Given the description of an element on the screen output the (x, y) to click on. 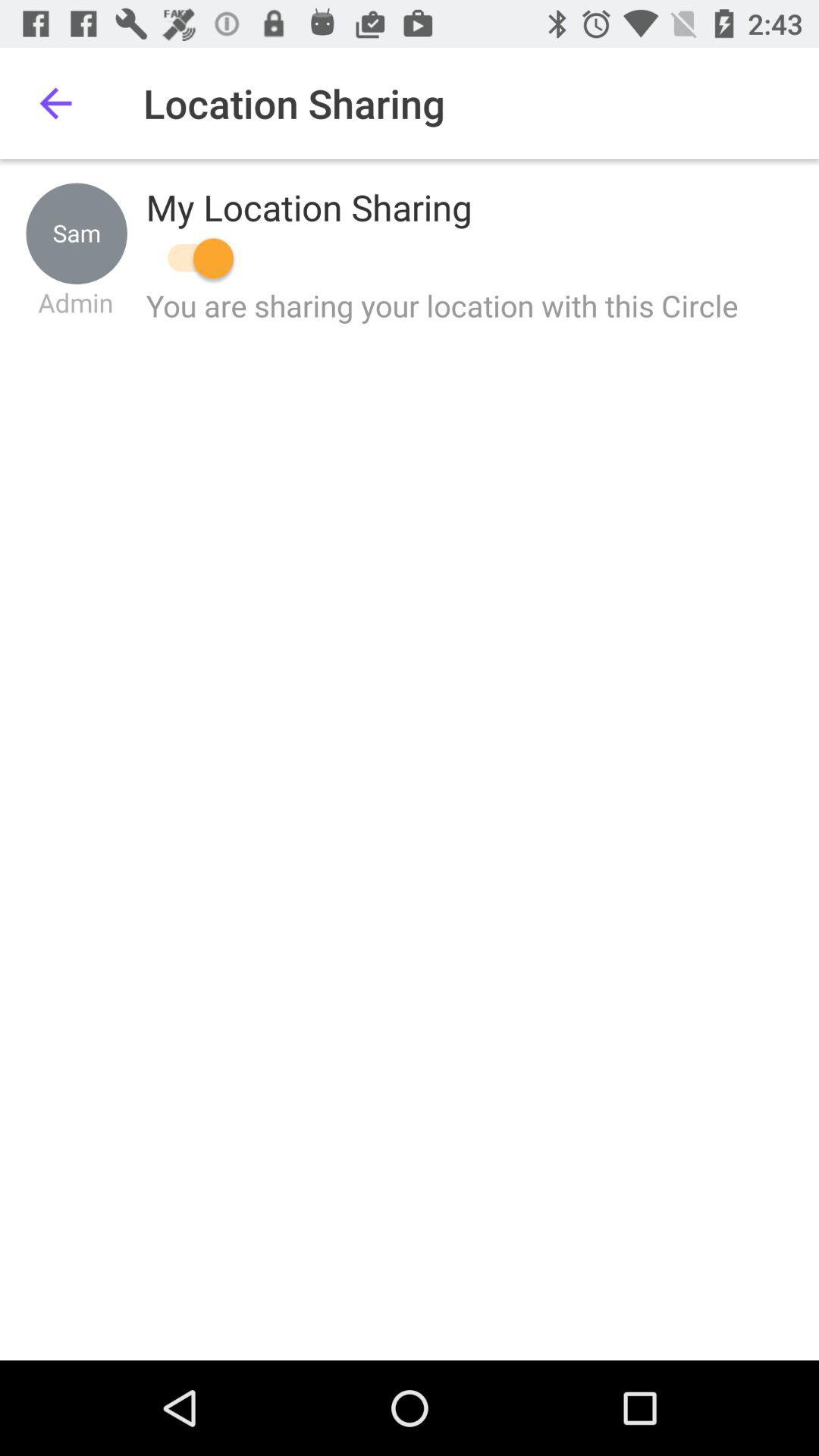
toggle location sharing (193, 258)
